Given the description of an element on the screen output the (x, y) to click on. 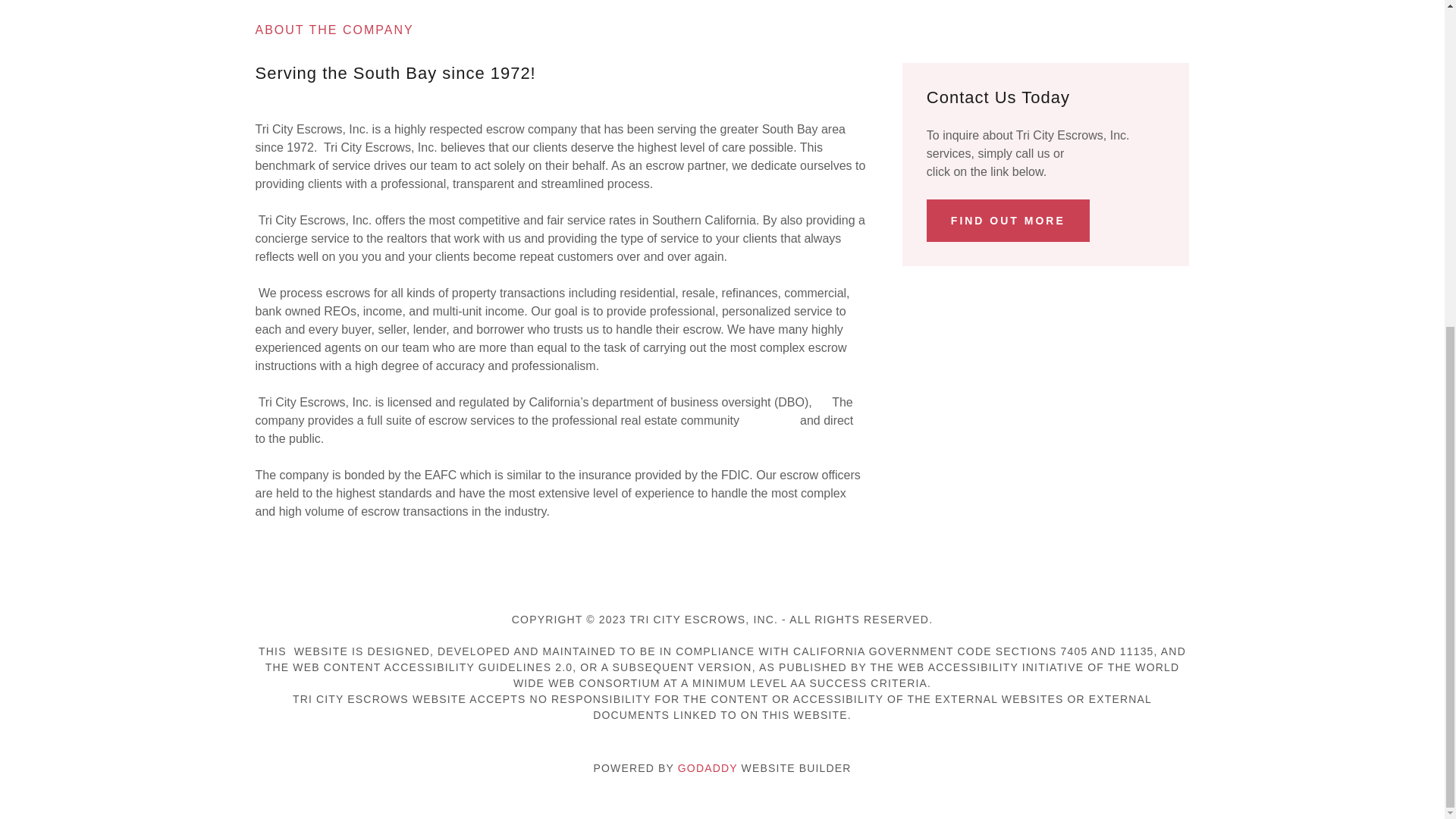
FIND OUT MORE (1007, 220)
GODADDY (708, 767)
